Given the description of an element on the screen output the (x, y) to click on. 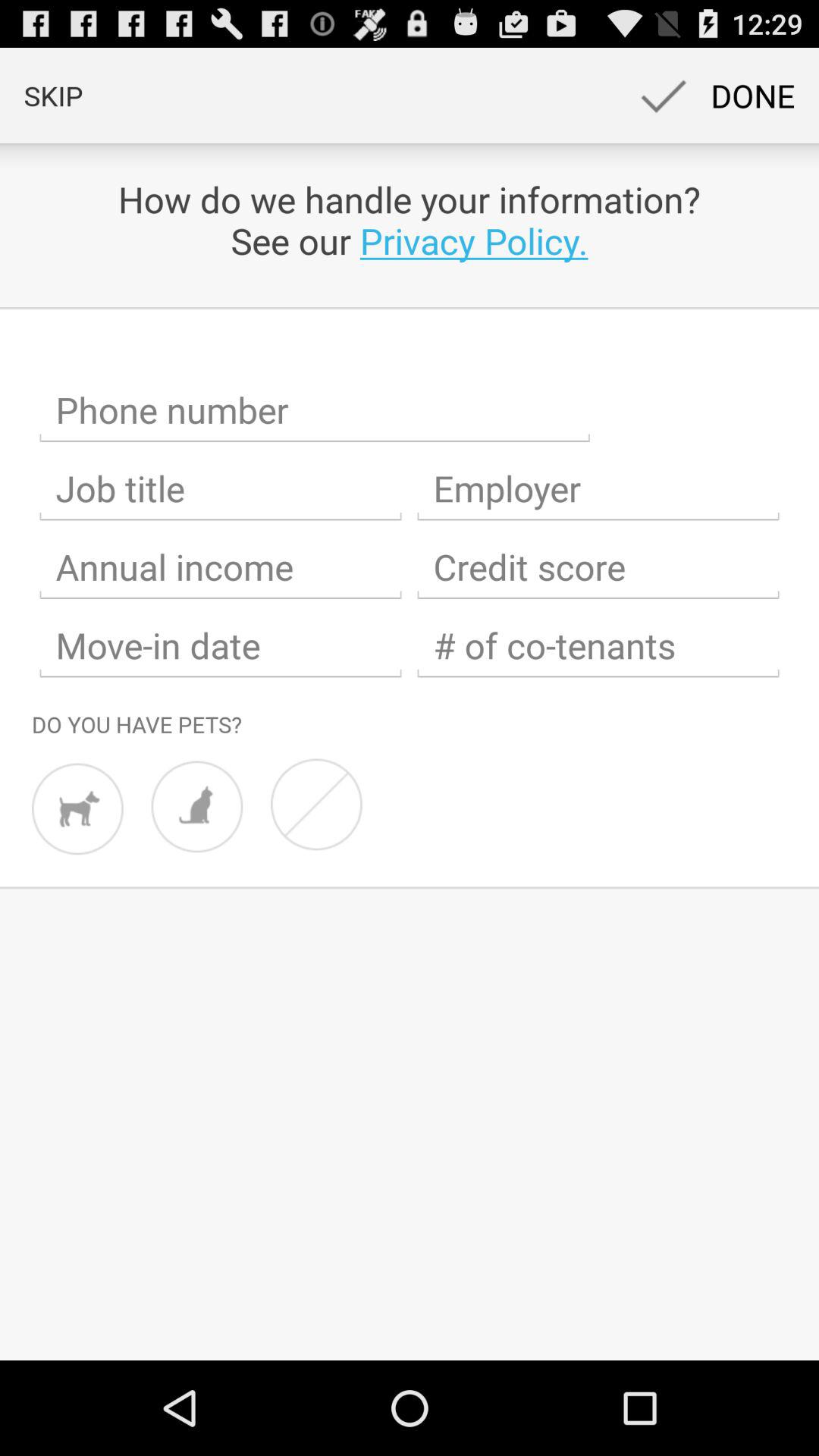
scroll until how do we app (409, 220)
